Given the description of an element on the screen output the (x, y) to click on. 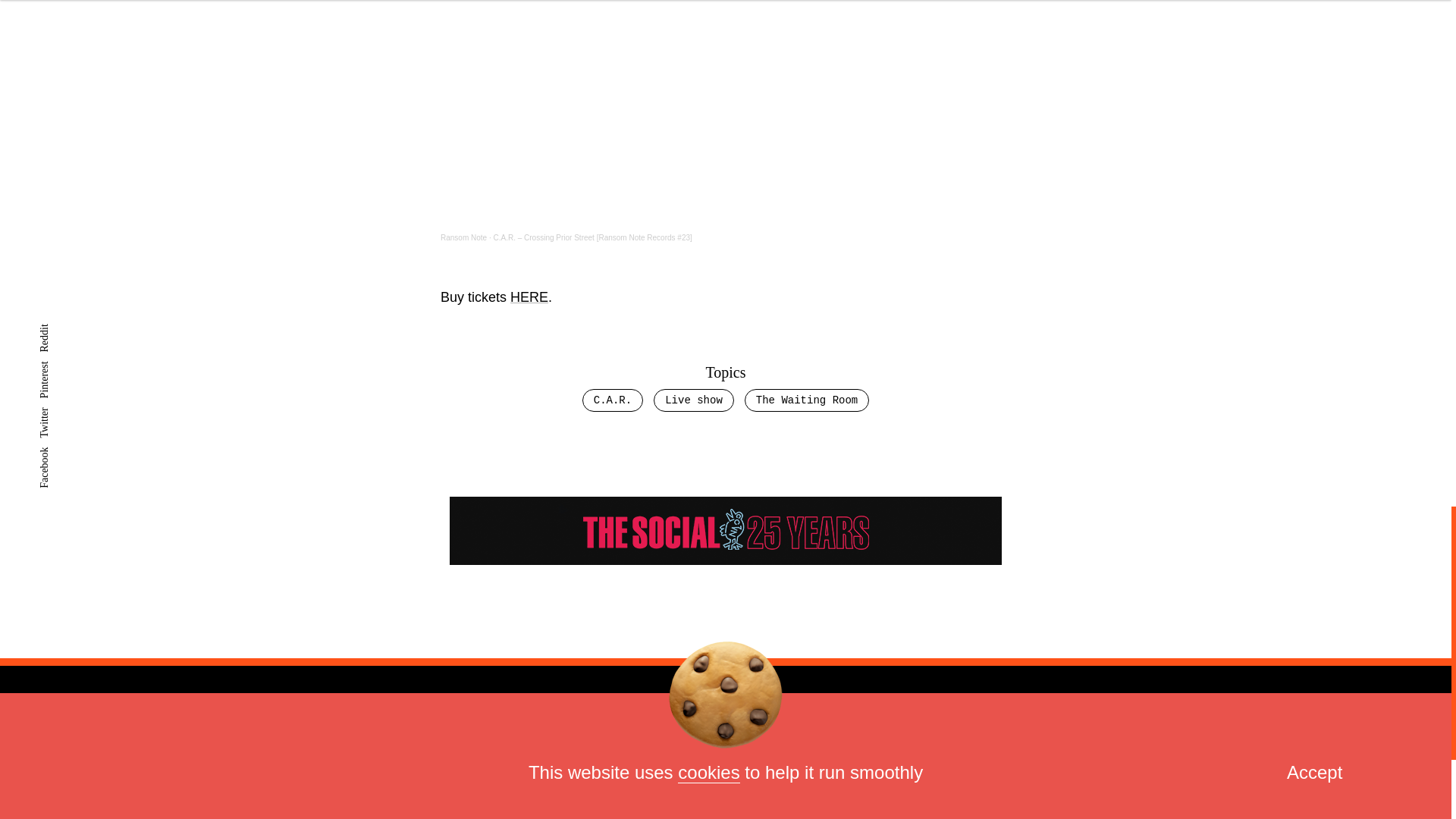
Ransom Note (463, 237)
C.A.R. (612, 400)
Live show (693, 400)
Twitter (779, 749)
Music (366, 748)
HERE (529, 296)
Instagram (866, 749)
Ransom Note (463, 237)
Facebook (962, 749)
The Waiting Room (806, 400)
